Given the description of an element on the screen output the (x, y) to click on. 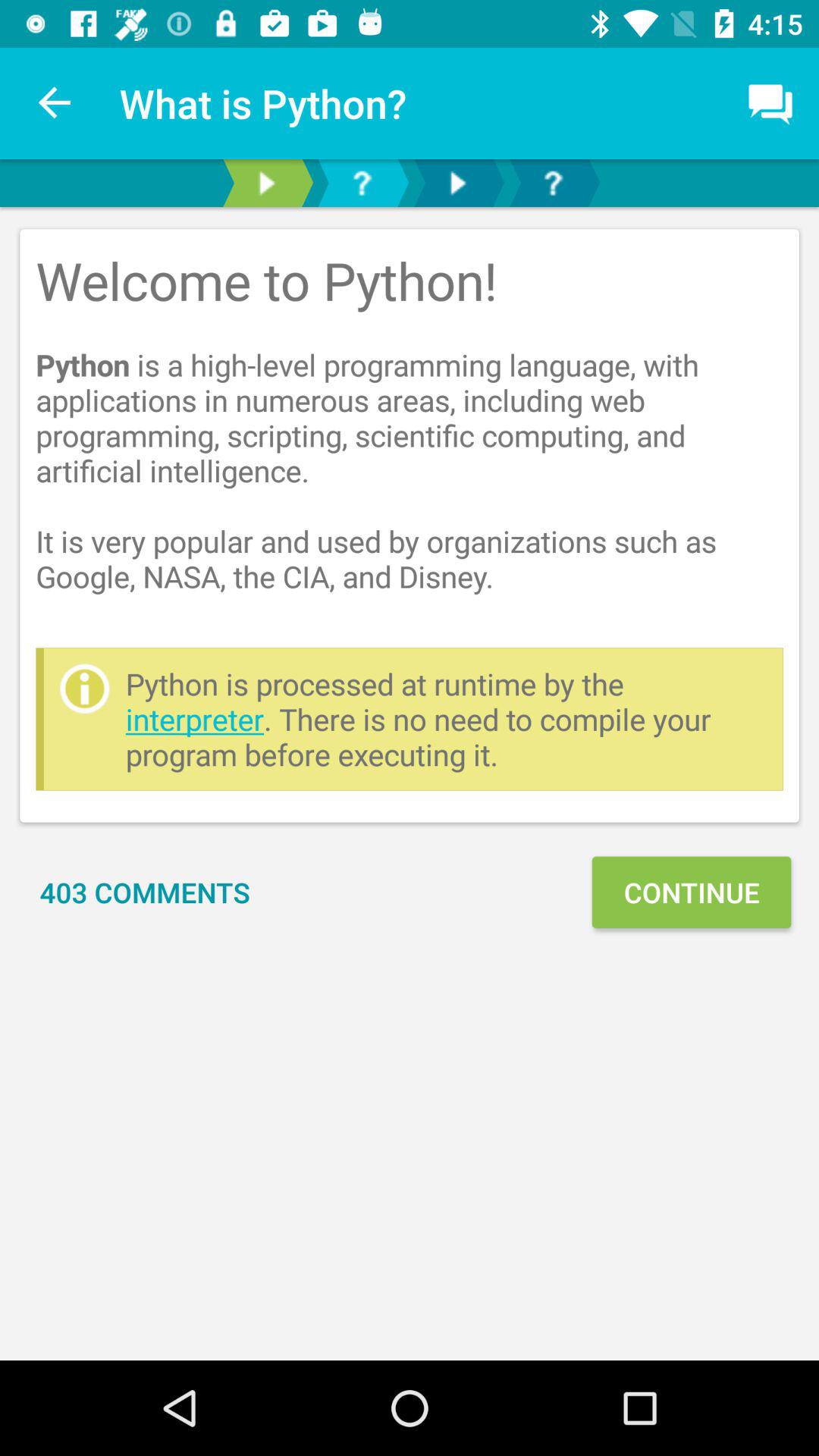
move to previous page (265, 183)
